Given the description of an element on the screen output the (x, y) to click on. 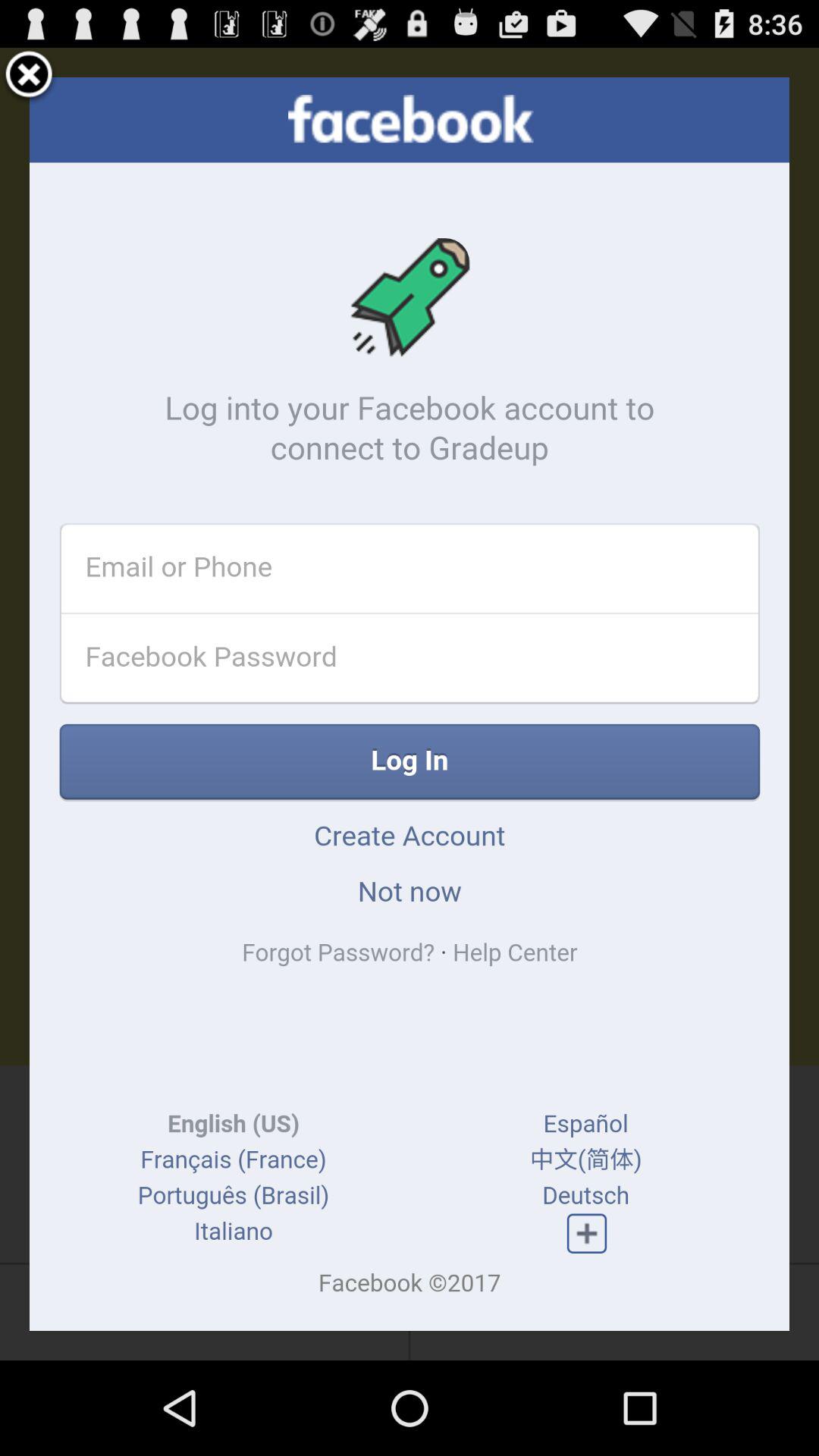
facebook login page (409, 703)
